Given the description of an element on the screen output the (x, y) to click on. 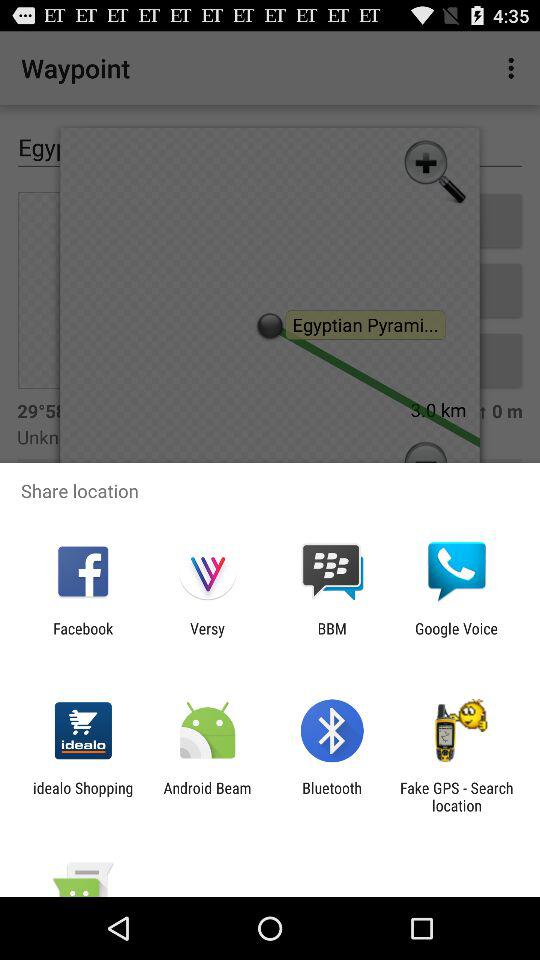
tap google voice (456, 637)
